Given the description of an element on the screen output the (x, y) to click on. 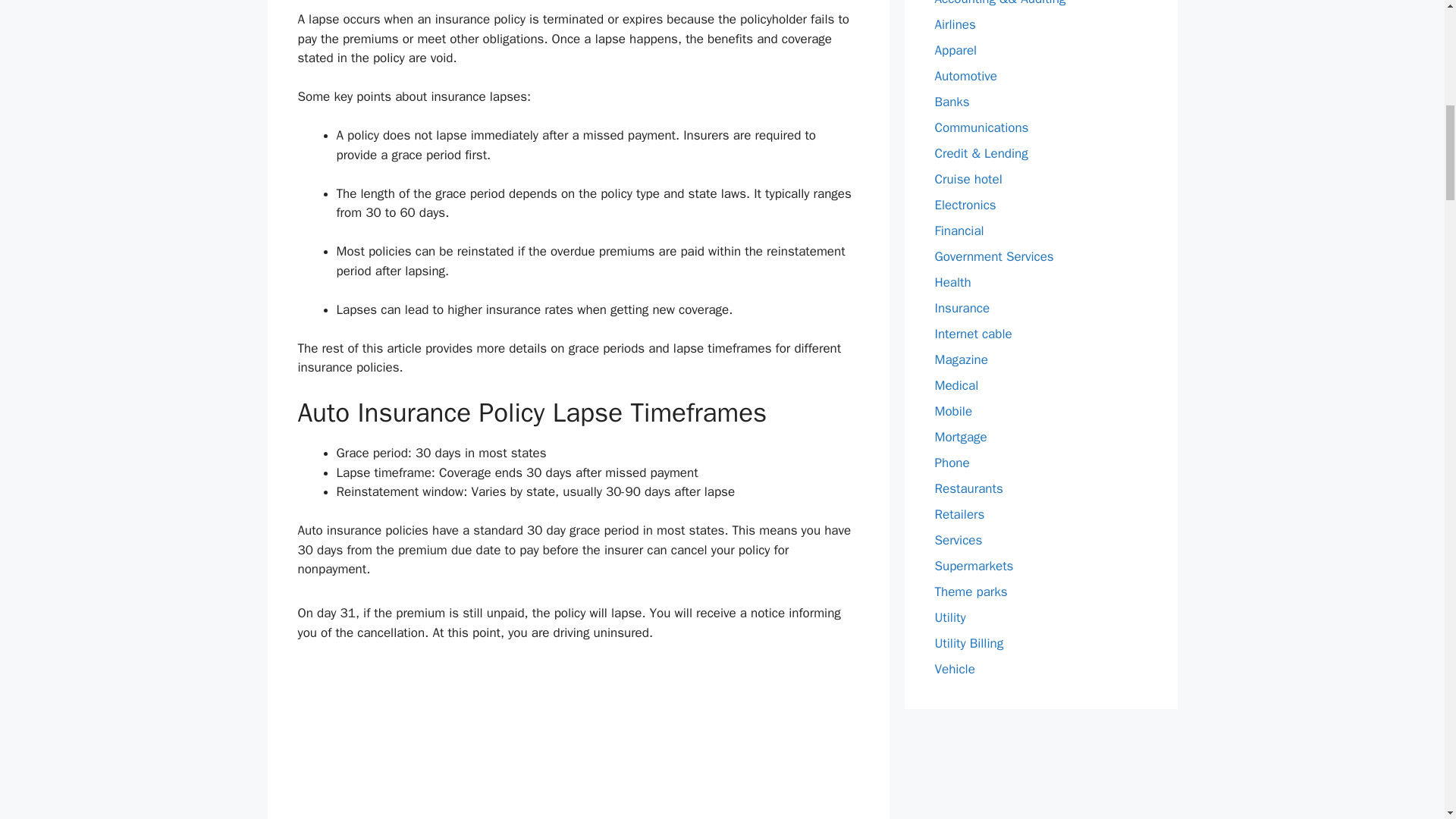
Insurance (962, 308)
Airlines (954, 24)
Cruise hotel (967, 179)
Electronics (964, 204)
Advertisement (578, 740)
Communications (980, 127)
Health (952, 282)
Government Services (993, 256)
Automotive (965, 75)
Apparel (955, 50)
Banks (951, 101)
Financial (959, 230)
